Given the description of an element on the screen output the (x, y) to click on. 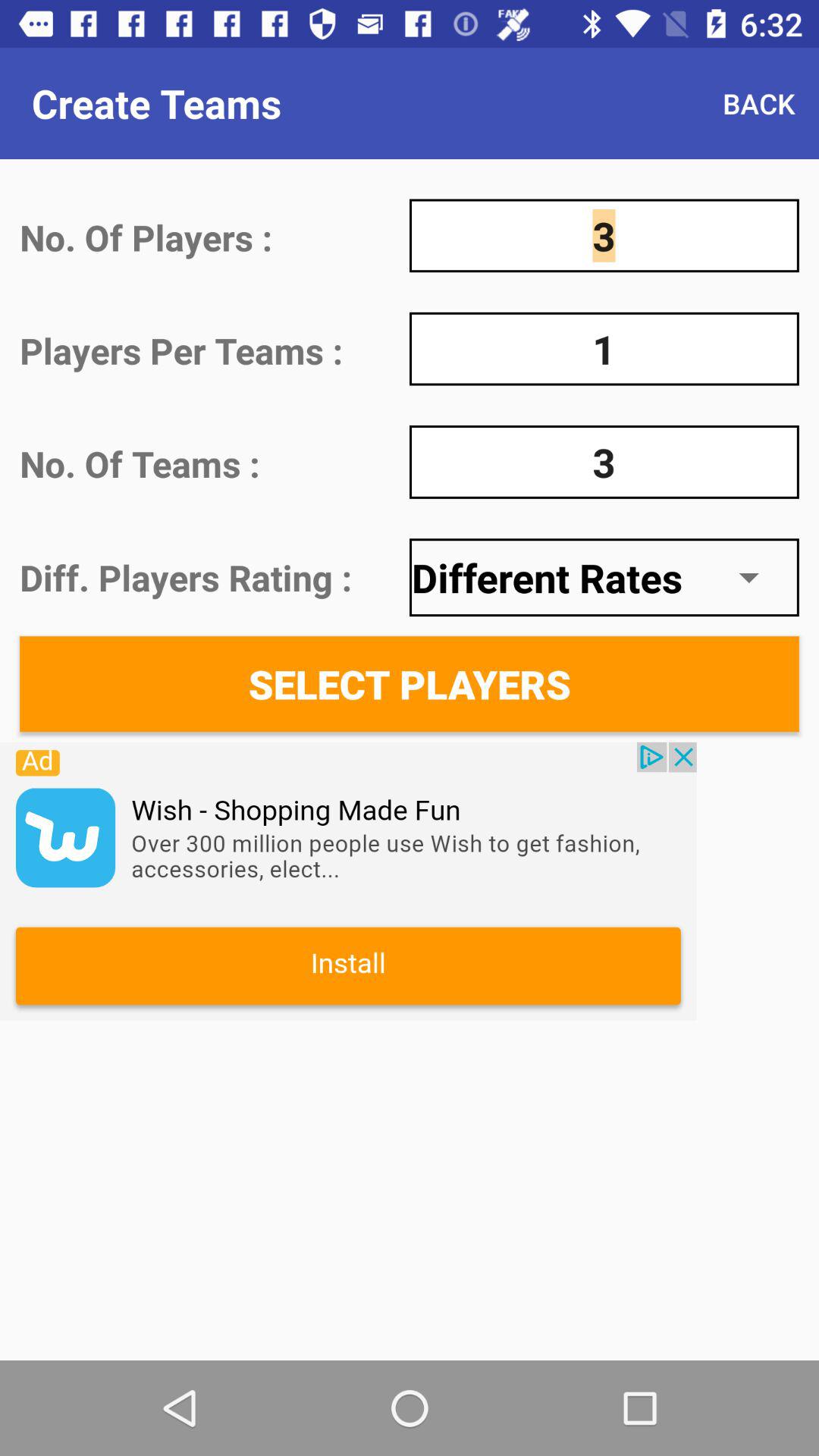
go to advertising partner (348, 881)
